Given the description of an element on the screen output the (x, y) to click on. 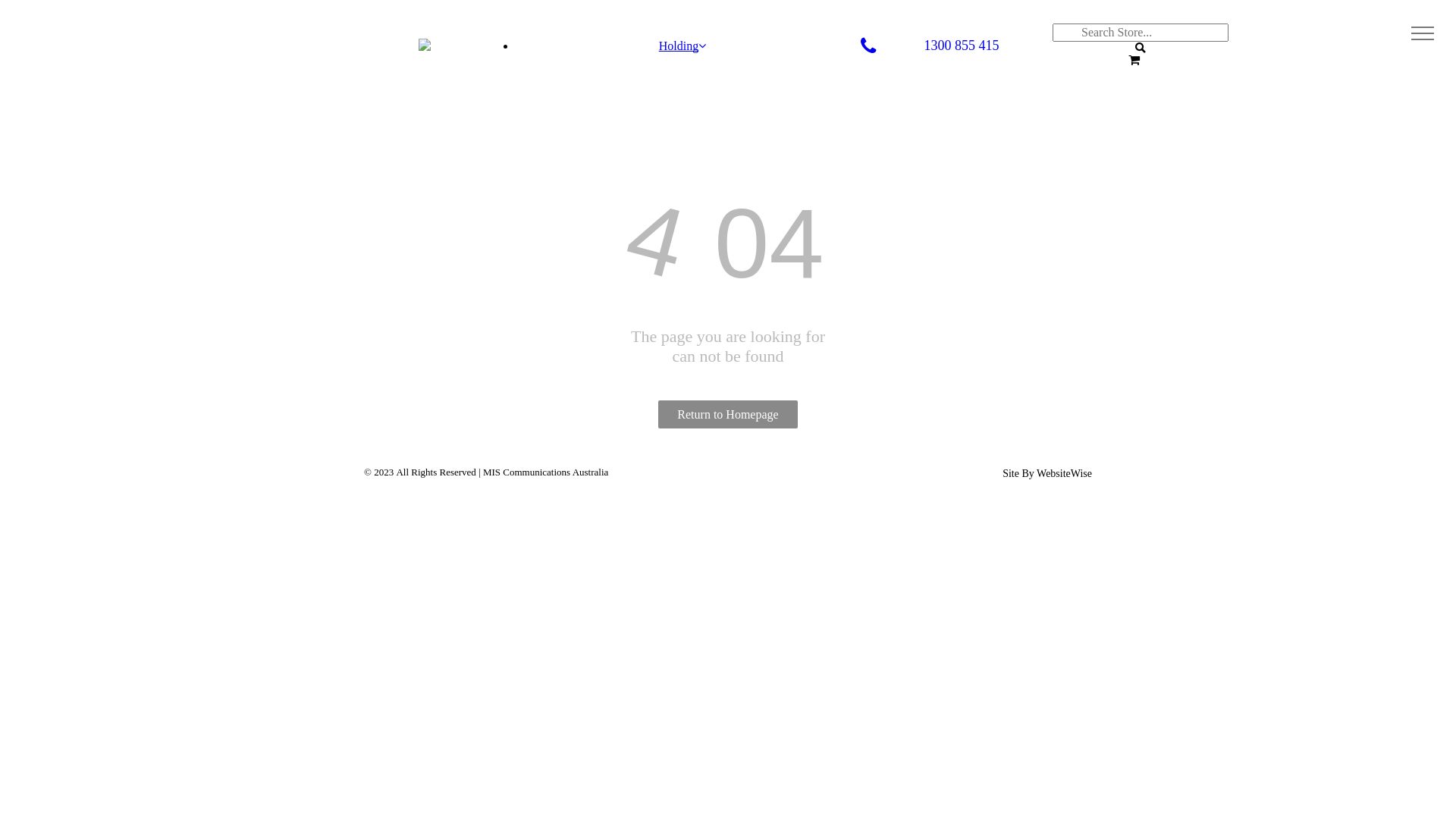
1300 855 415 Element type: text (946, 45)
Holding Element type: text (682, 45)
Return to Homepage Element type: text (727, 414)
